Given the description of an element on the screen output the (x, y) to click on. 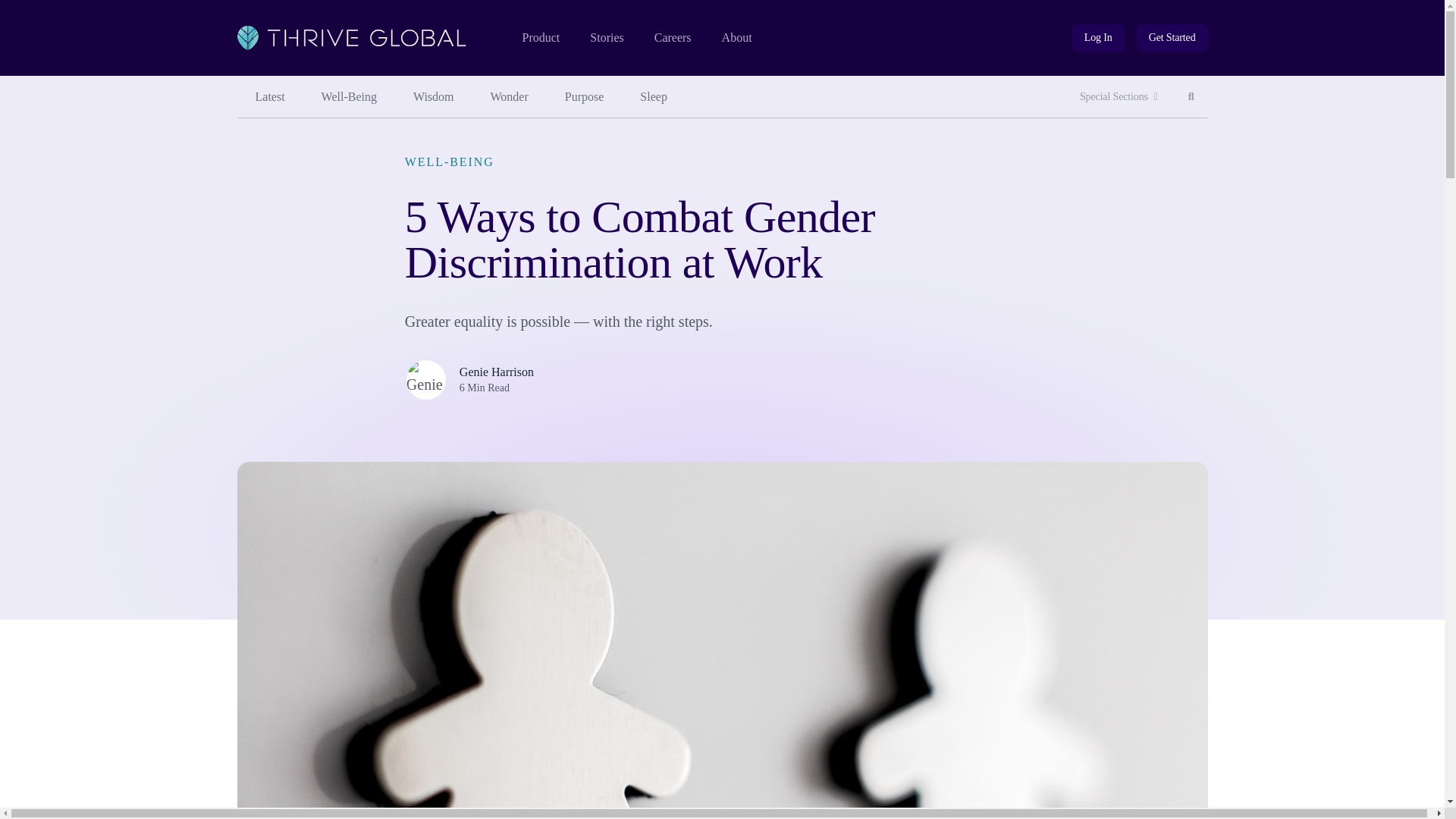
Careers (672, 37)
About (737, 37)
Log In (1097, 37)
Special Sections (1118, 97)
Get Started (1172, 37)
Product (540, 37)
Search site (1190, 96)
Purpose (585, 96)
Sleep (653, 96)
btn-info (1097, 37)
Well-Being (348, 96)
Wisdom (432, 96)
btn-primary (1172, 37)
Stories (606, 37)
